Given the description of an element on the screen output the (x, y) to click on. 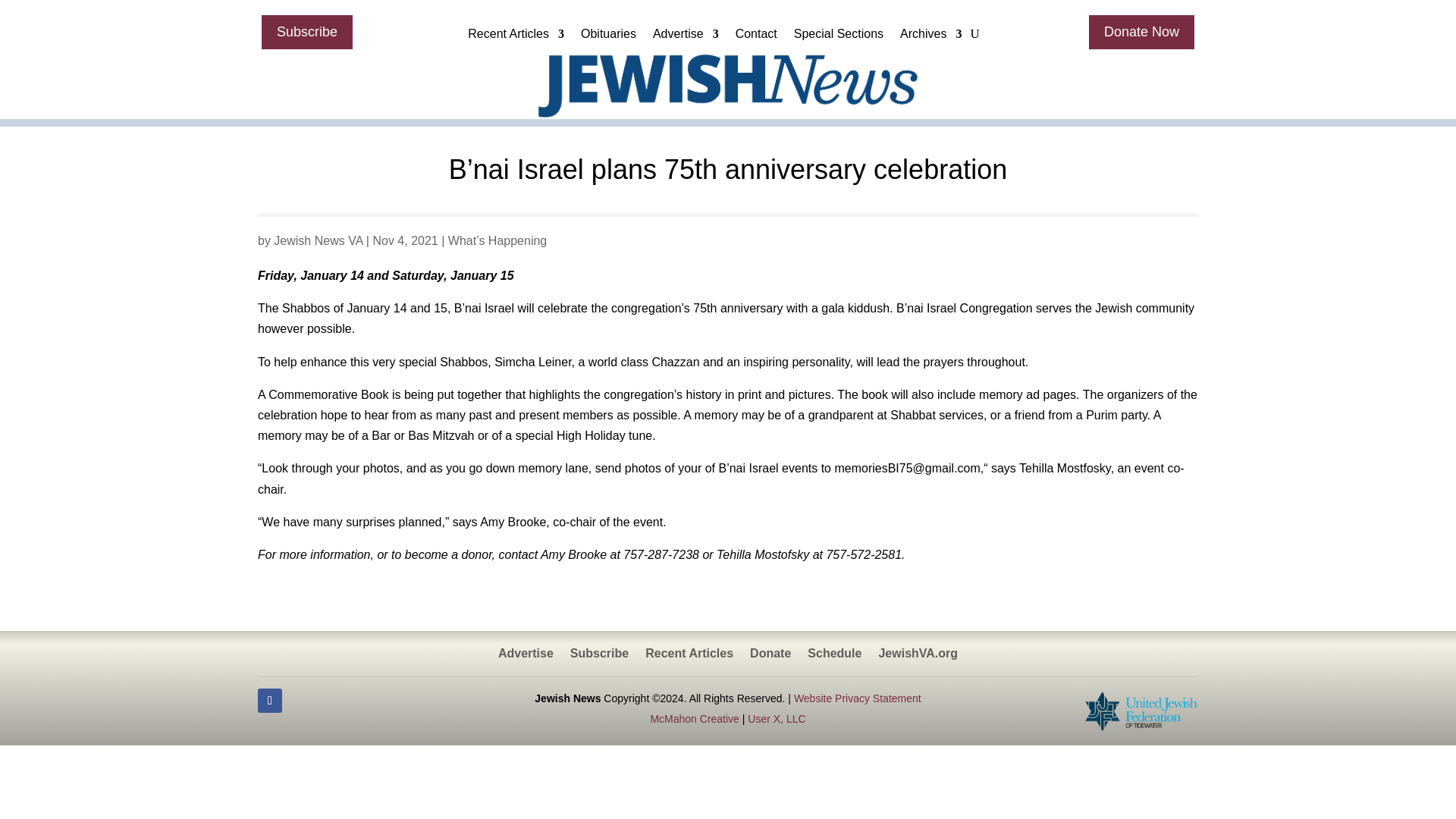
Obituaries (608, 37)
Posts by Jewish News VA (317, 240)
Subscribe (307, 32)
Follow on Facebook (269, 700)
Contact (756, 37)
Advertise (685, 37)
Archives (929, 37)
Special Sections (838, 37)
Donate Now (1141, 32)
Recent Articles (515, 37)
